Given the description of an element on the screen output the (x, y) to click on. 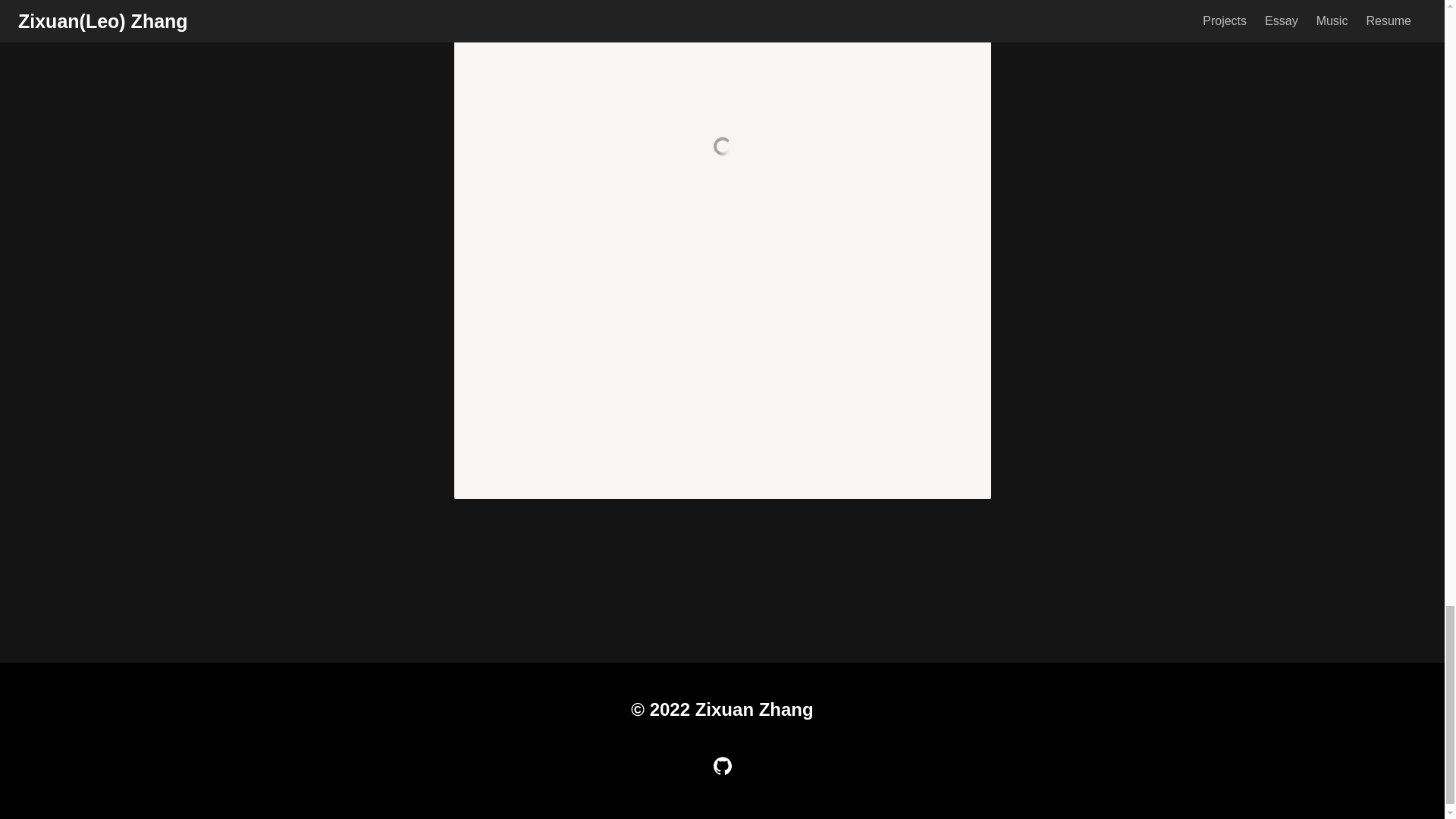
GitHub (721, 765)
GitHub (721, 765)
